Given the description of an element on the screen output the (x, y) to click on. 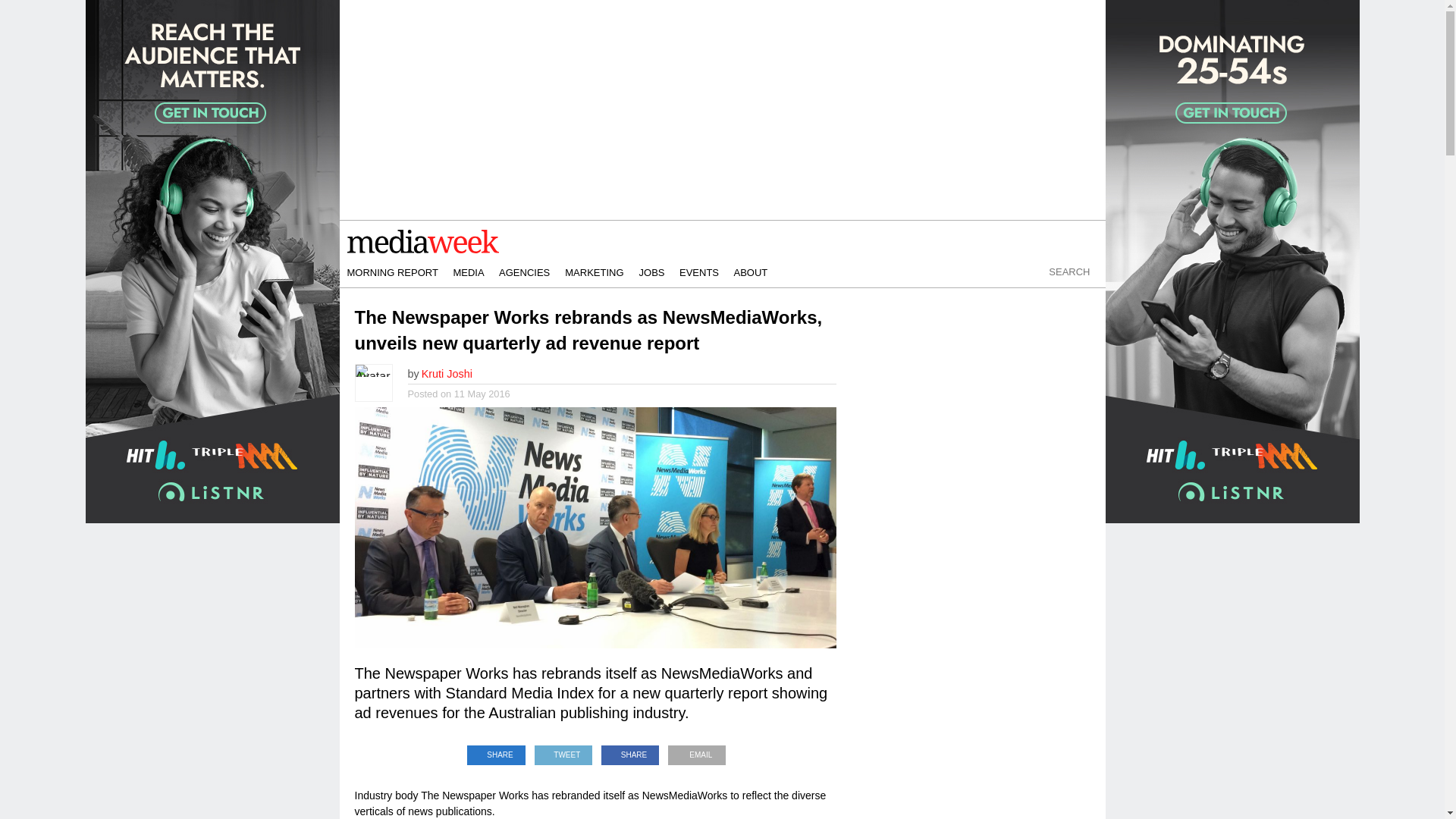
Posts by Kruti Joshi (446, 373)
Tweet This Post (563, 750)
Share on LinkedIn (496, 750)
Share on Facebook (630, 750)
3rd party ad content (976, 719)
